Given the description of an element on the screen output the (x, y) to click on. 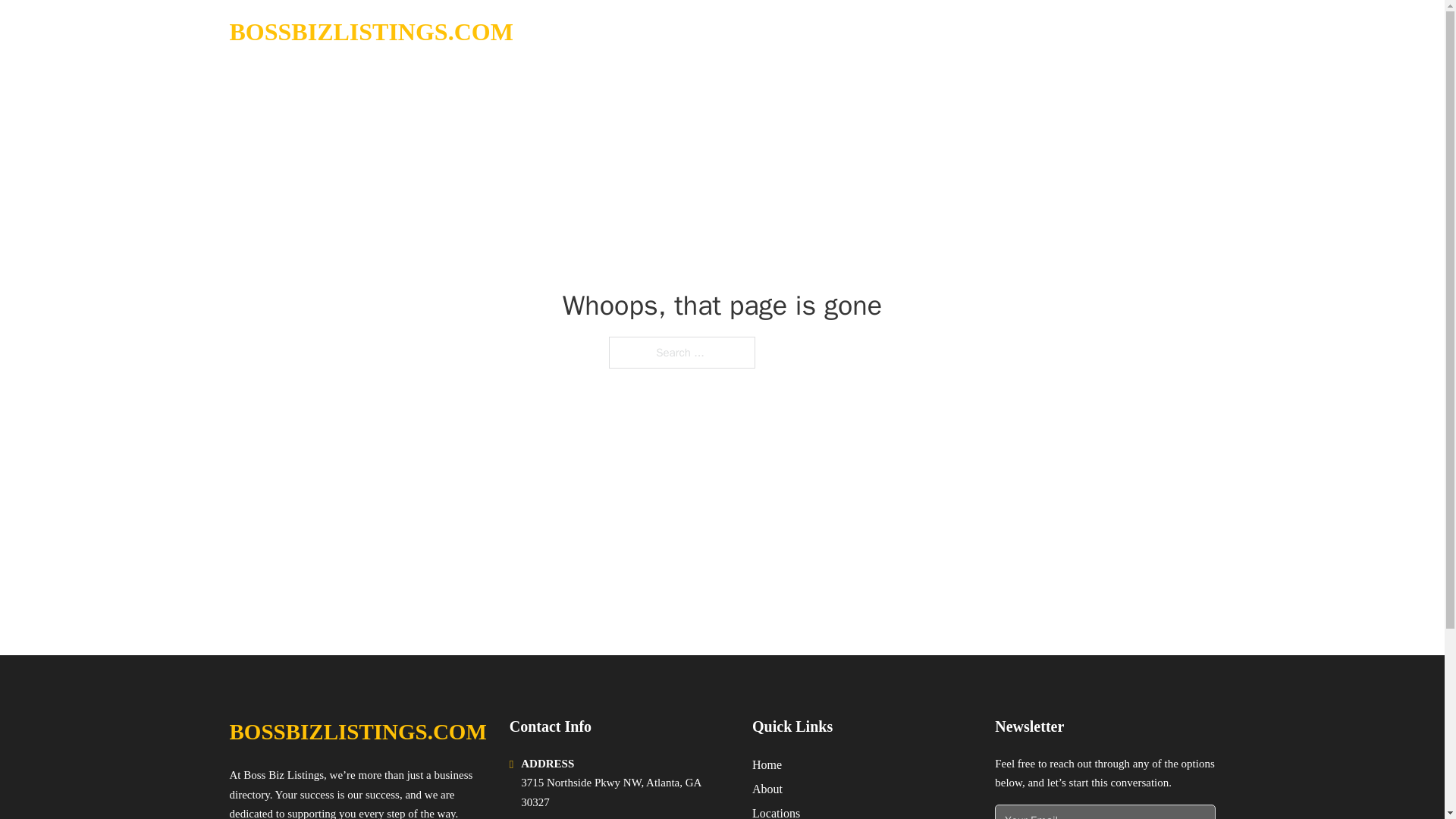
HOME (1025, 31)
Home (766, 764)
BOSSBIZLISTINGS.COM (370, 31)
LOCATIONS (1098, 31)
Locations (775, 811)
About (767, 788)
BOSSBIZLISTINGS.COM (357, 732)
